Given the description of an element on the screen output the (x, y) to click on. 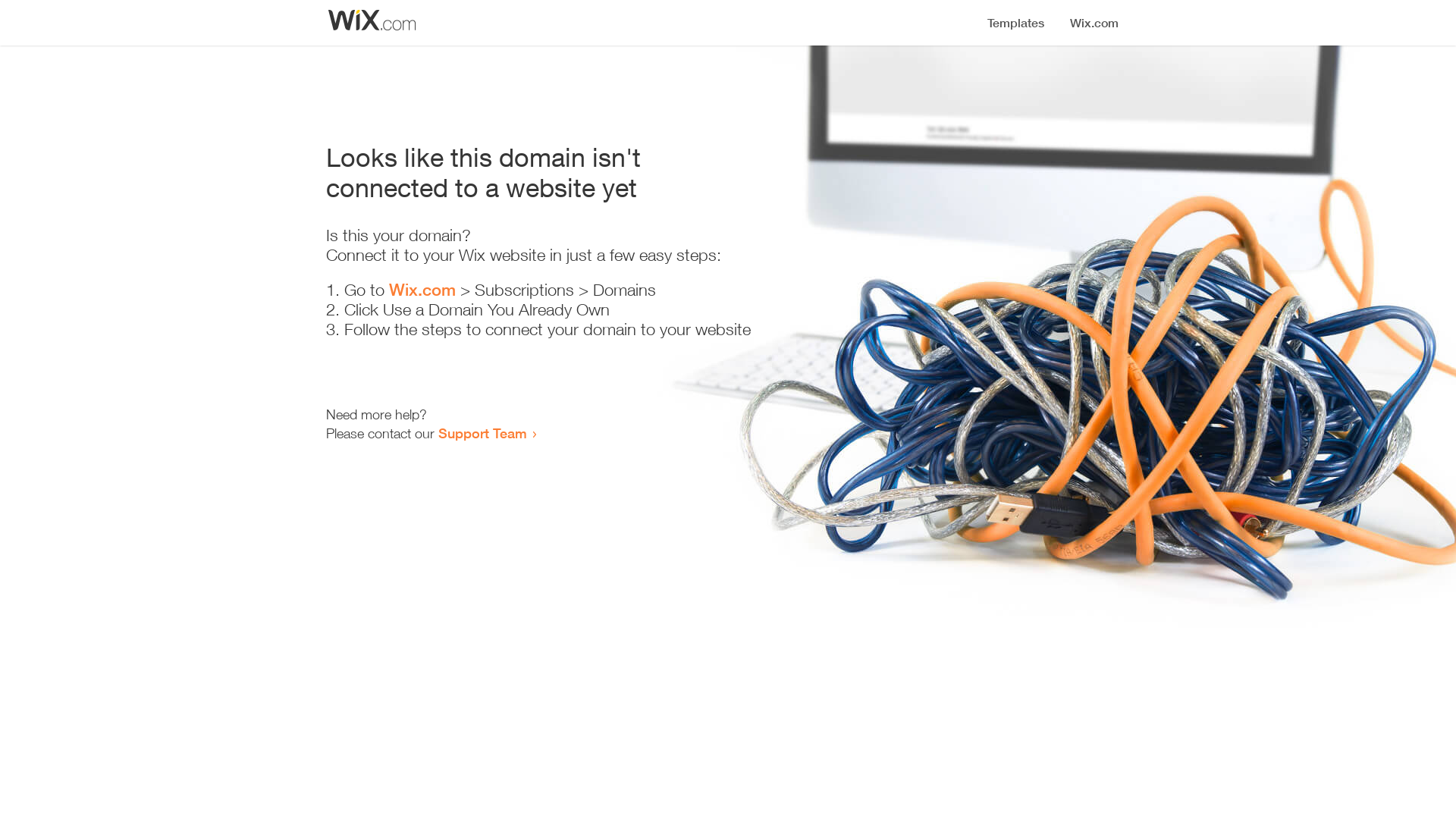
Support Team Element type: text (482, 432)
Wix.com Element type: text (422, 289)
